Given the description of an element on the screen output the (x, y) to click on. 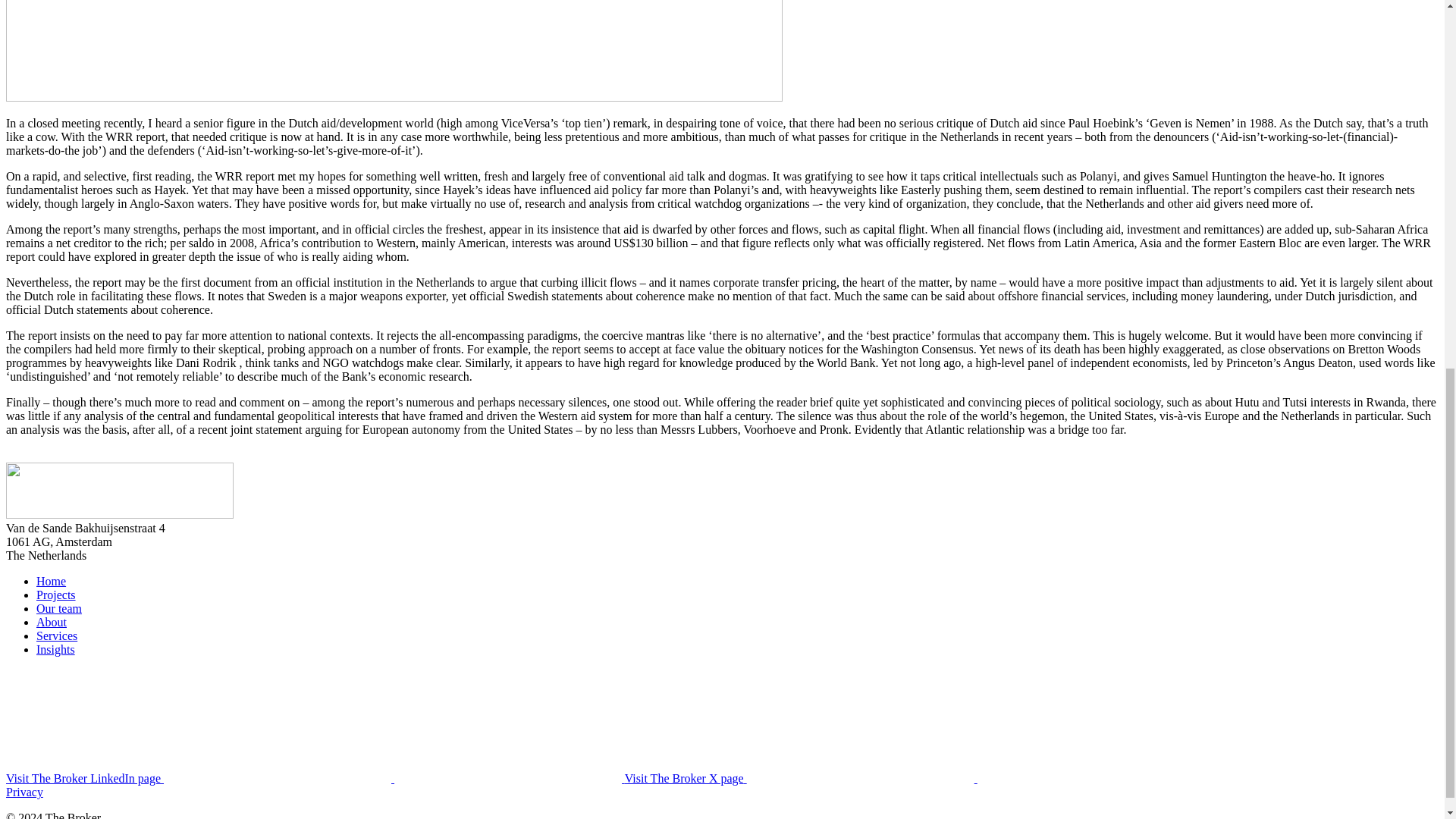
Projects (55, 594)
Insights (55, 649)
Visit The Broker LinkedIn page (314, 778)
Our team (58, 608)
Privacy (24, 791)
Visit The Broker X page (914, 778)
Home (50, 581)
About (51, 621)
Services (56, 635)
